Given the description of an element on the screen output the (x, y) to click on. 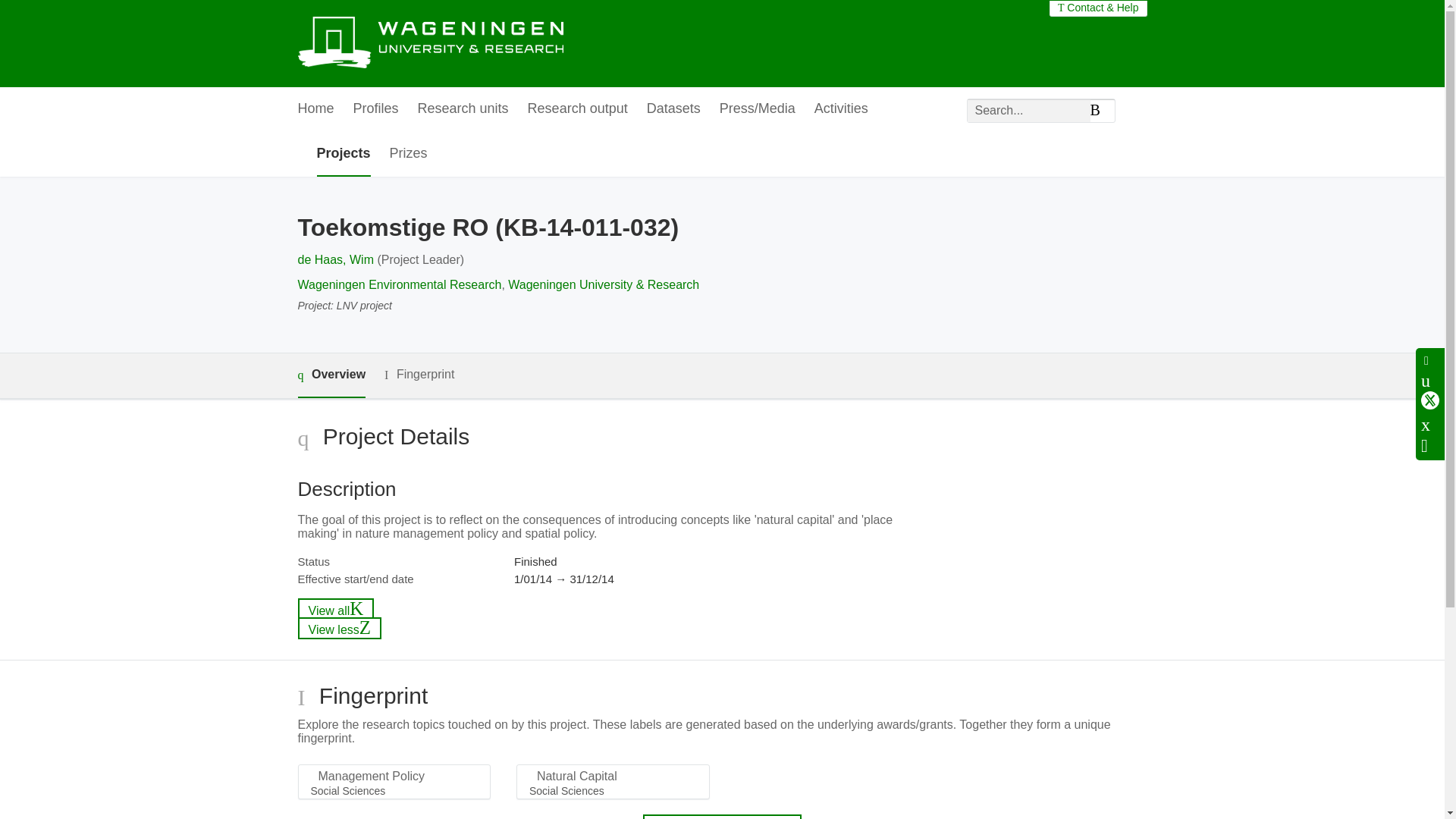
Research output (577, 108)
Fingerprint (419, 374)
de Haas, Wim (334, 259)
View less (339, 628)
Wageningen Environmental Research (398, 284)
View full fingerprint (722, 816)
Projects (344, 153)
Profiles (375, 108)
Overview (331, 375)
